Given the description of an element on the screen output the (x, y) to click on. 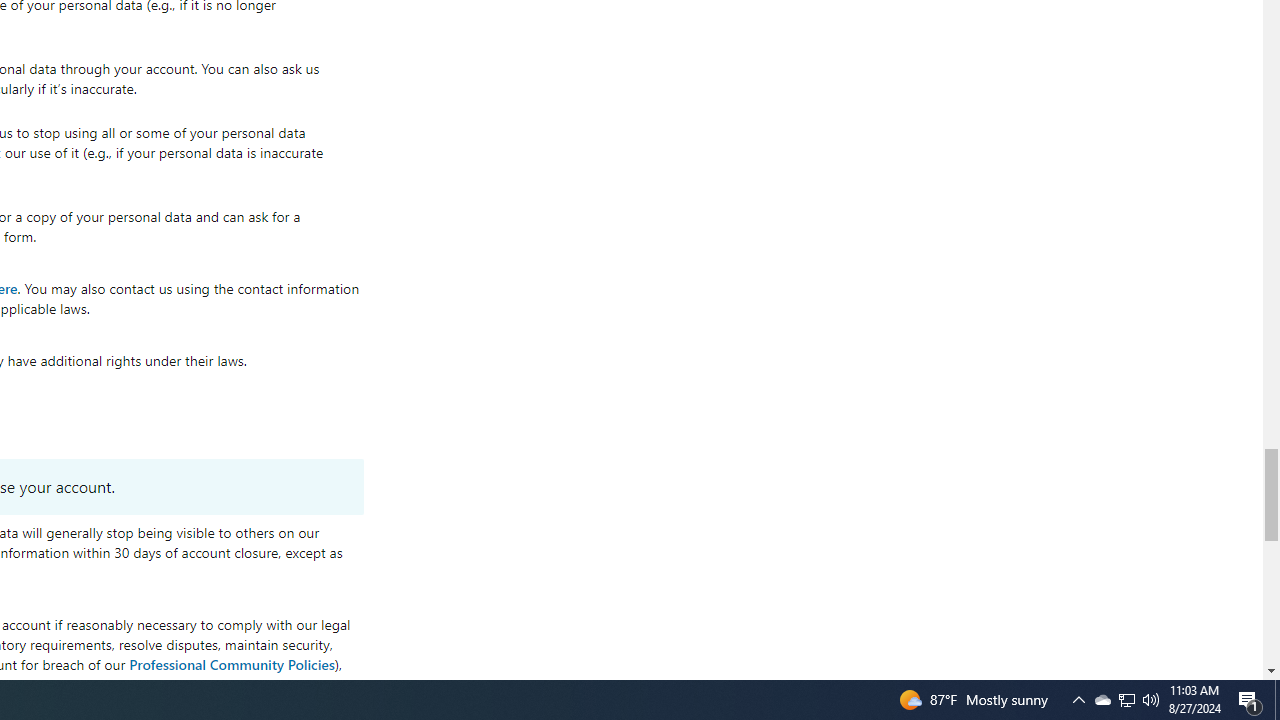
Professional Community Policies (232, 663)
